Given the description of an element on the screen output the (x, y) to click on. 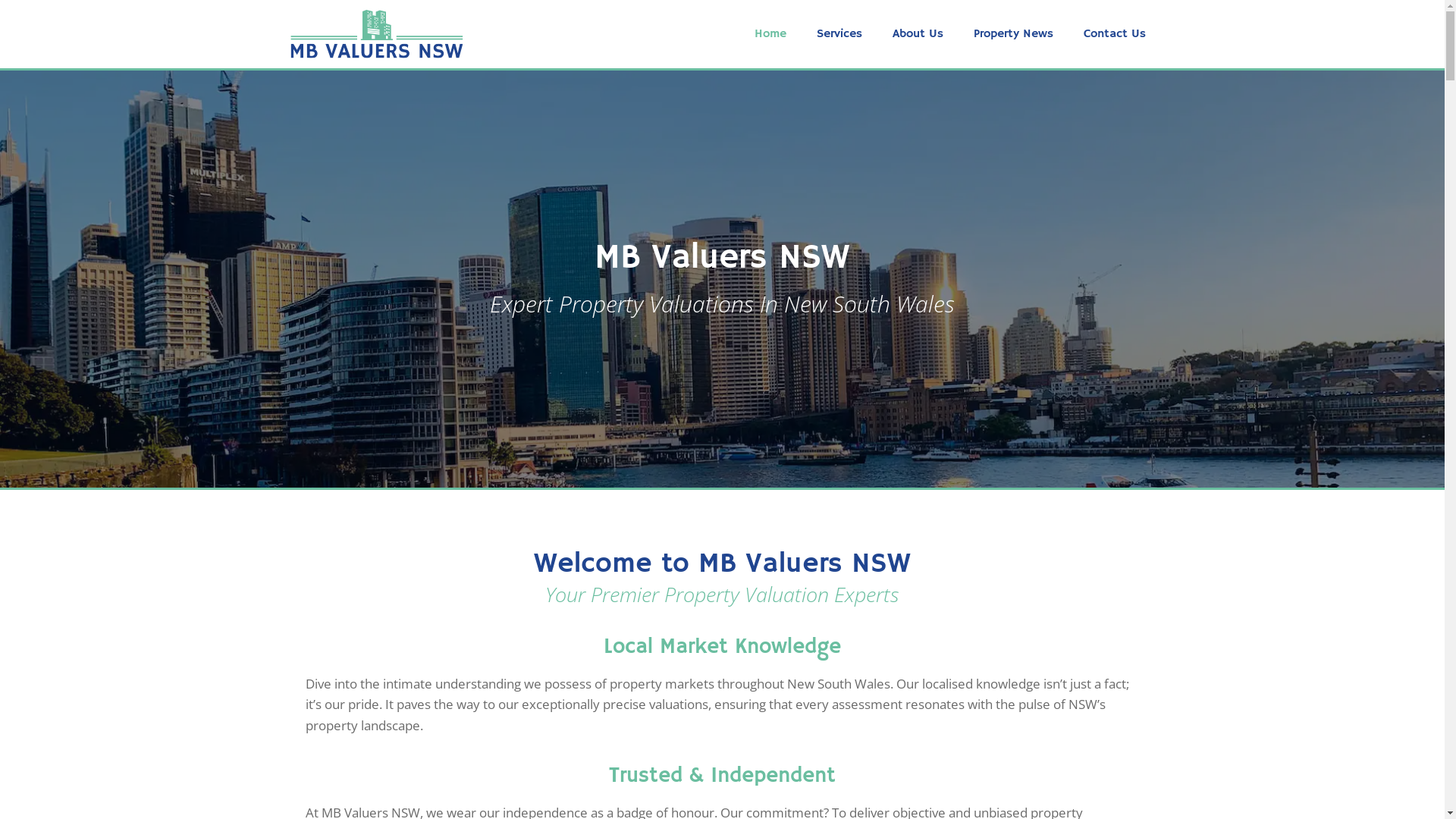
Services Element type: text (839, 33)
Property News Element type: text (1013, 33)
Contact Us Element type: text (1114, 33)
Home Element type: text (769, 33)
About Us Element type: text (917, 33)
